Given the description of an element on the screen output the (x, y) to click on. 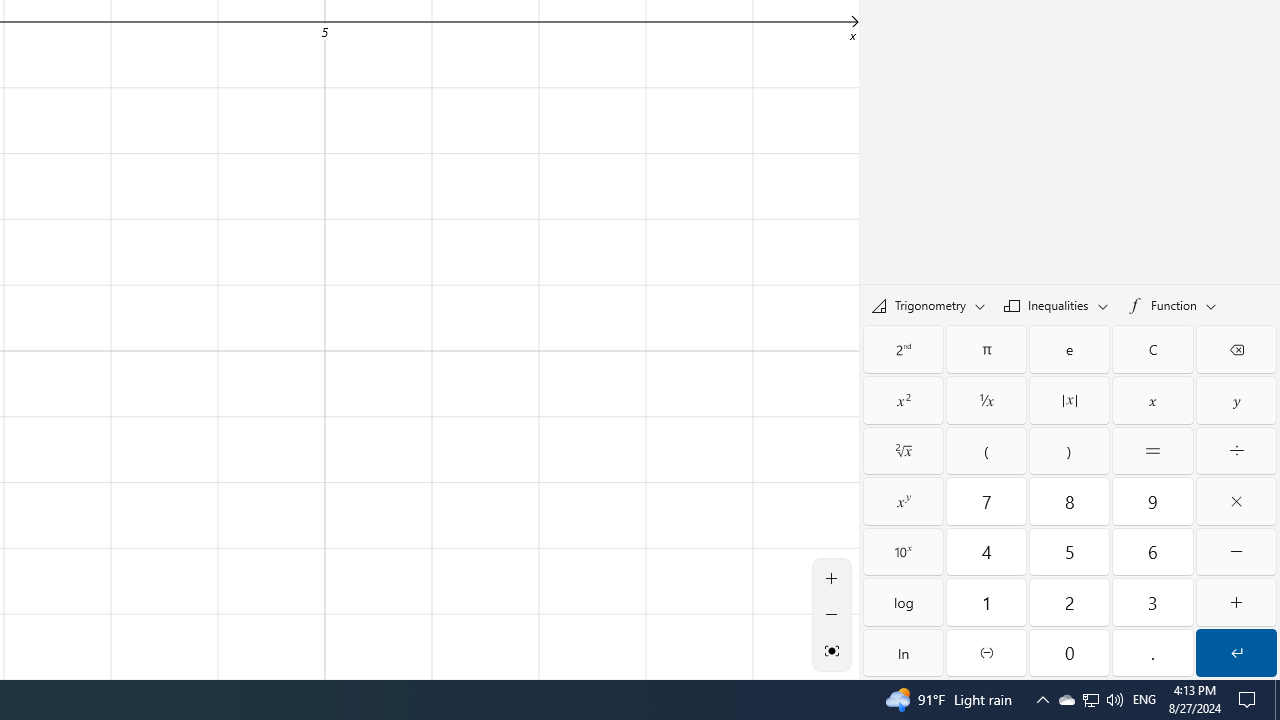
Inequalities (1055, 304)
Left parenthesis (985, 450)
Zoom in (831, 578)
Minus (1236, 551)
Clear (1153, 348)
Zero (1069, 652)
Square (903, 399)
Six (1153, 551)
Submit (1236, 652)
Reciprocal (985, 399)
Multiply by (1236, 501)
Functions (1171, 305)
One (985, 602)
Trigonometry (927, 304)
Equals (1153, 450)
